Given the description of an element on the screen output the (x, y) to click on. 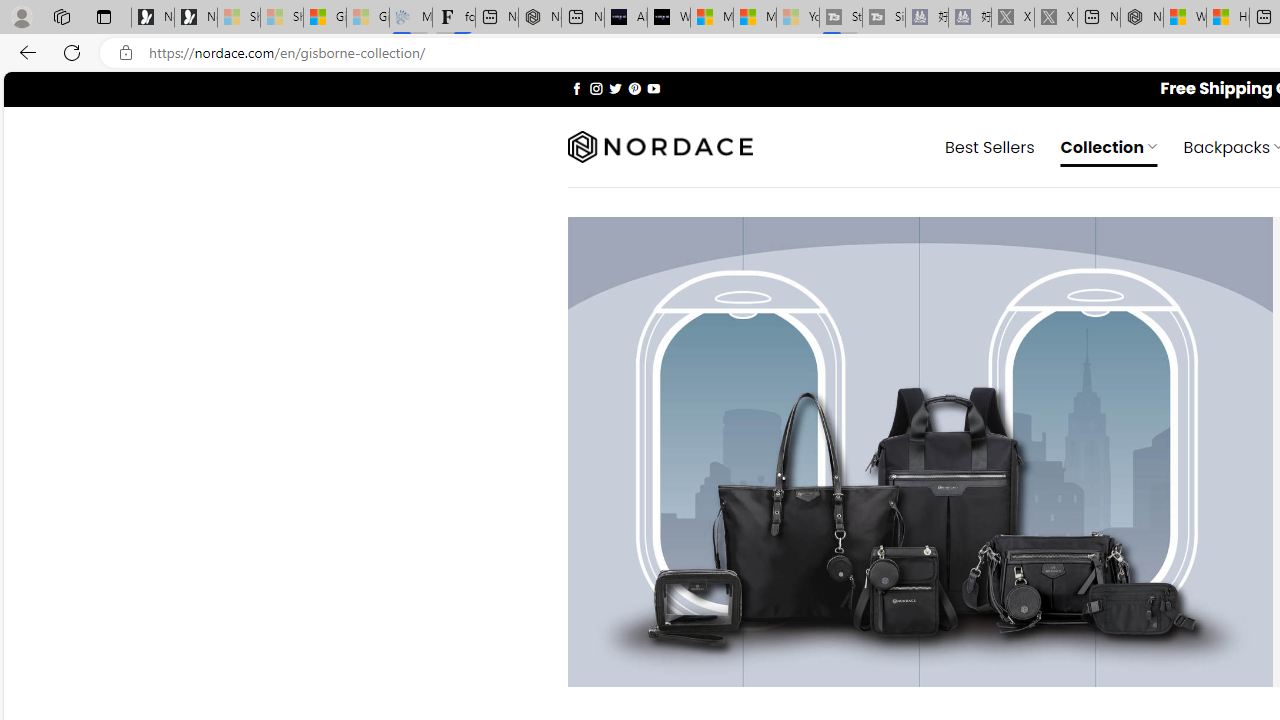
  Best Sellers (989, 146)
AI Voice Changer for PC and Mac - Voice.ai (625, 17)
Nordace - My Account (1142, 17)
